Given the description of an element on the screen output the (x, y) to click on. 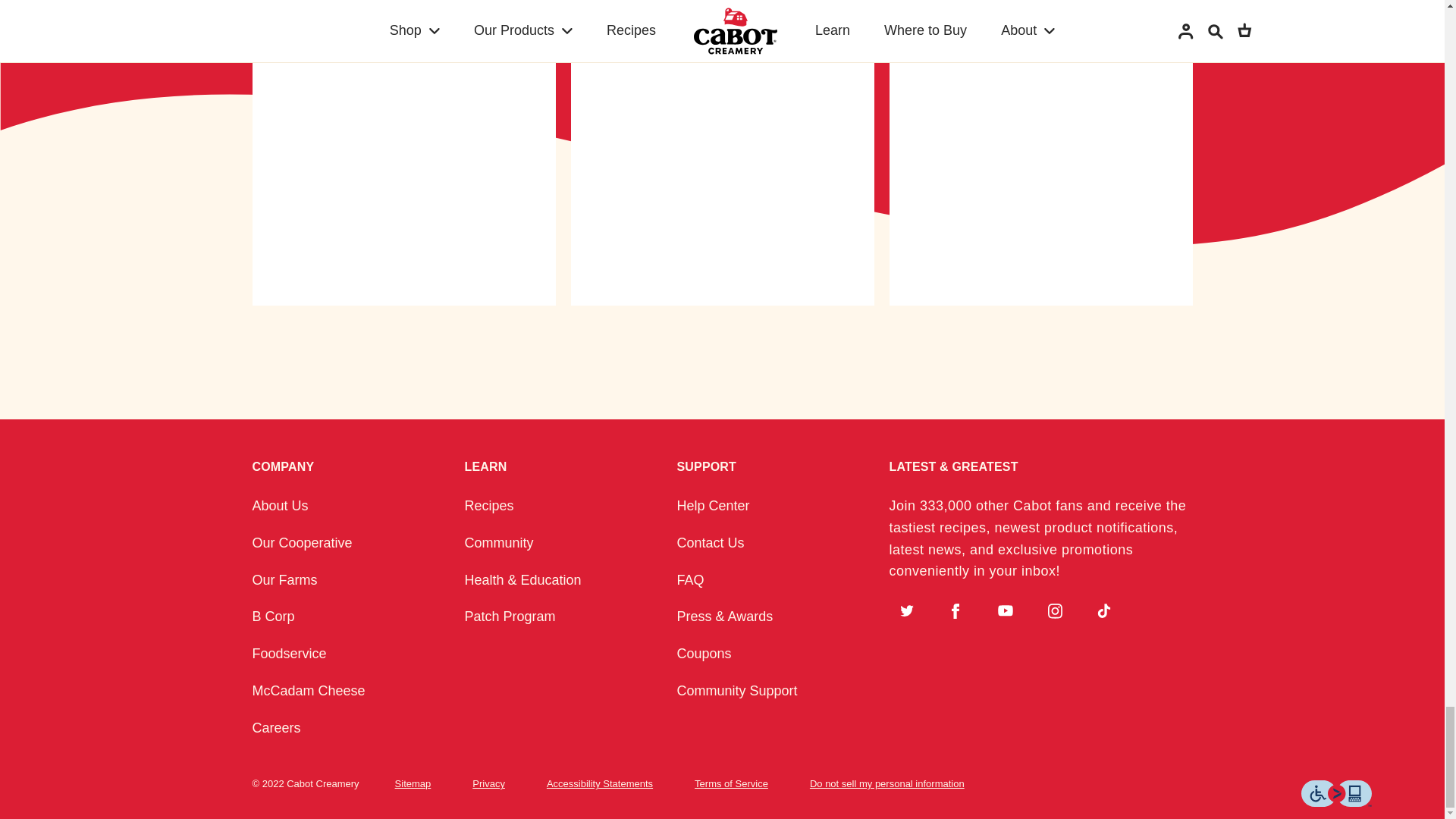
Our Farms (284, 579)
Our Cooperative (301, 542)
Foodservice (288, 653)
About Us (279, 505)
B Corp (272, 616)
McCadam Cheese (308, 690)
